Given the description of an element on the screen output the (x, y) to click on. 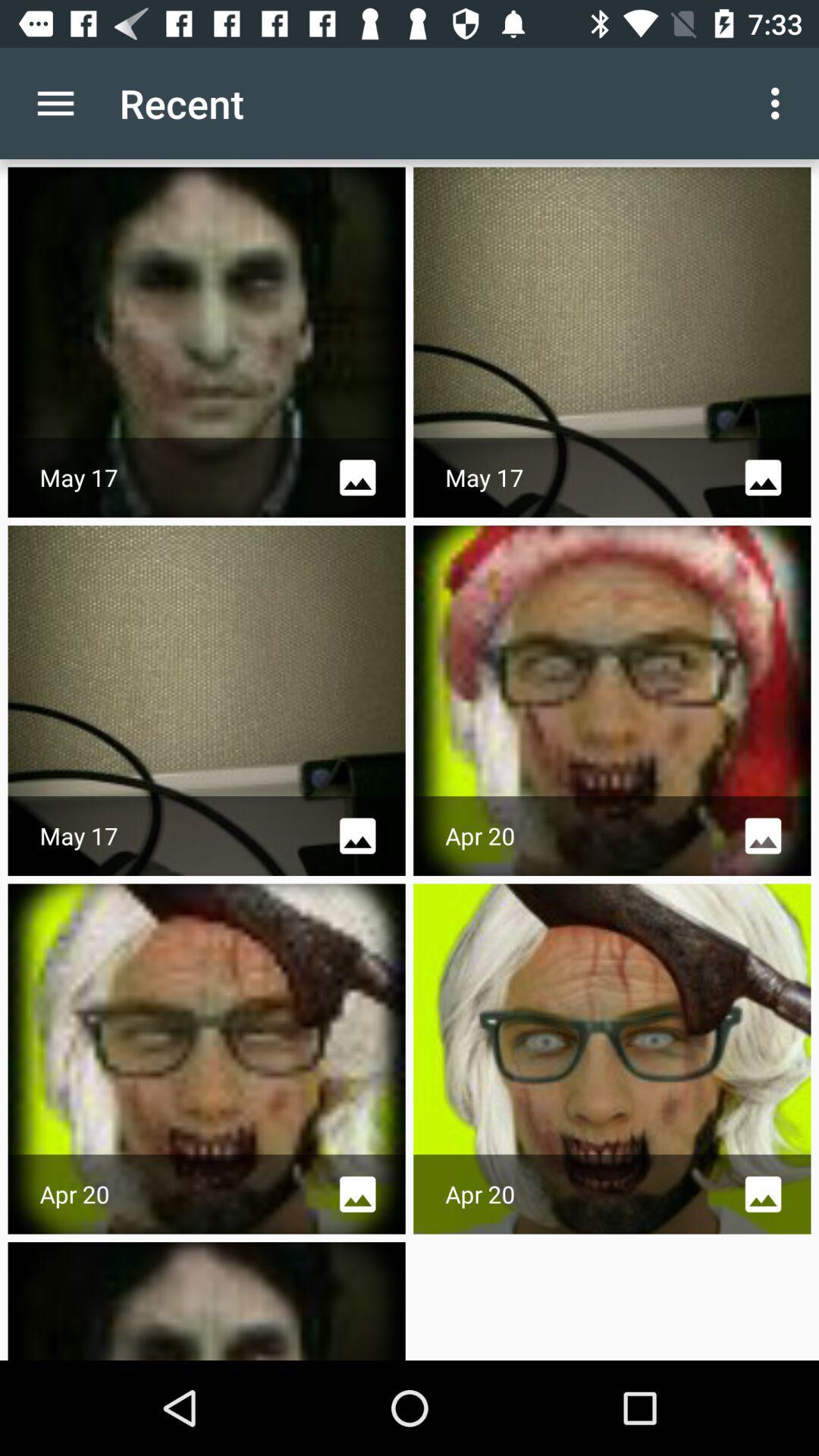
press icon to the left of recent icon (55, 103)
